Given the description of an element on the screen output the (x, y) to click on. 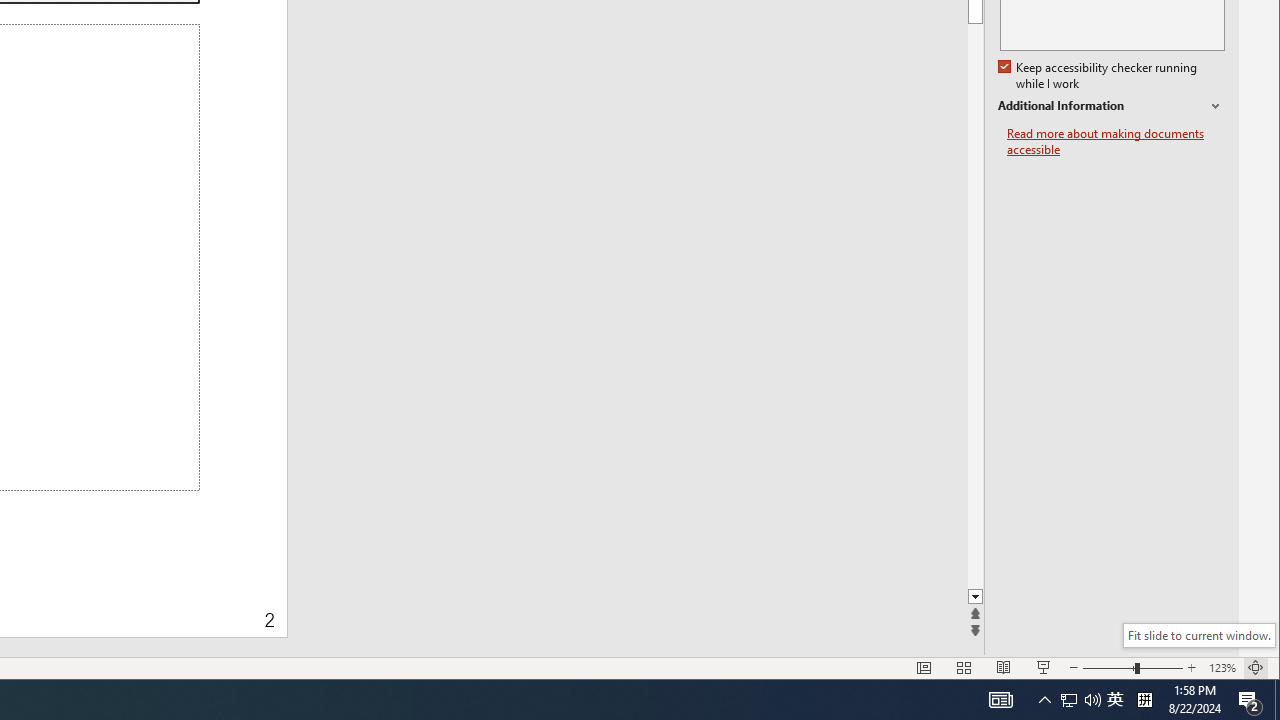
Read more about making documents accessible (1115, 142)
